Given the description of an element on the screen output the (x, y) to click on. 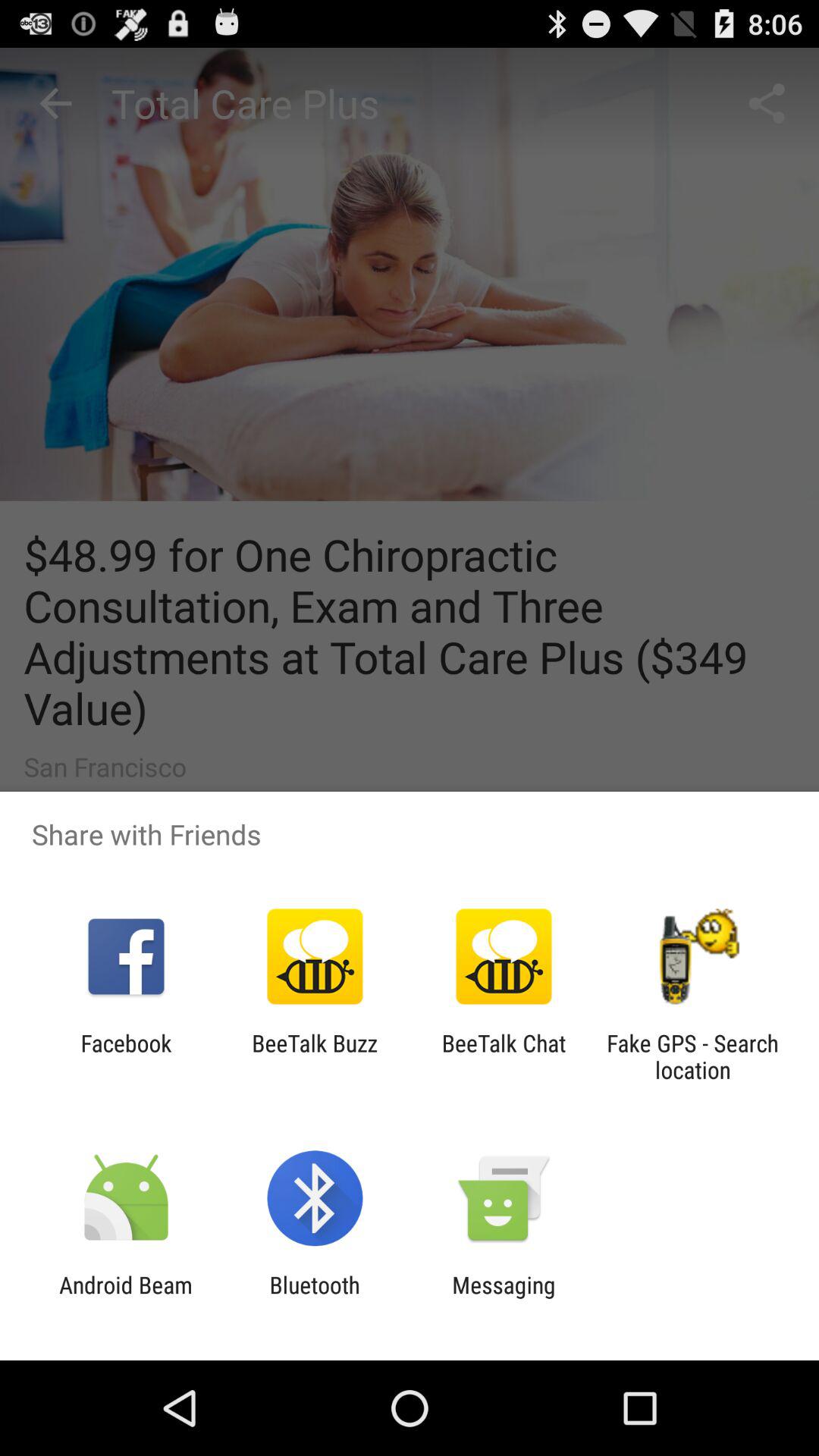
select fake gps search at the bottom right corner (692, 1056)
